Given the description of an element on the screen output the (x, y) to click on. 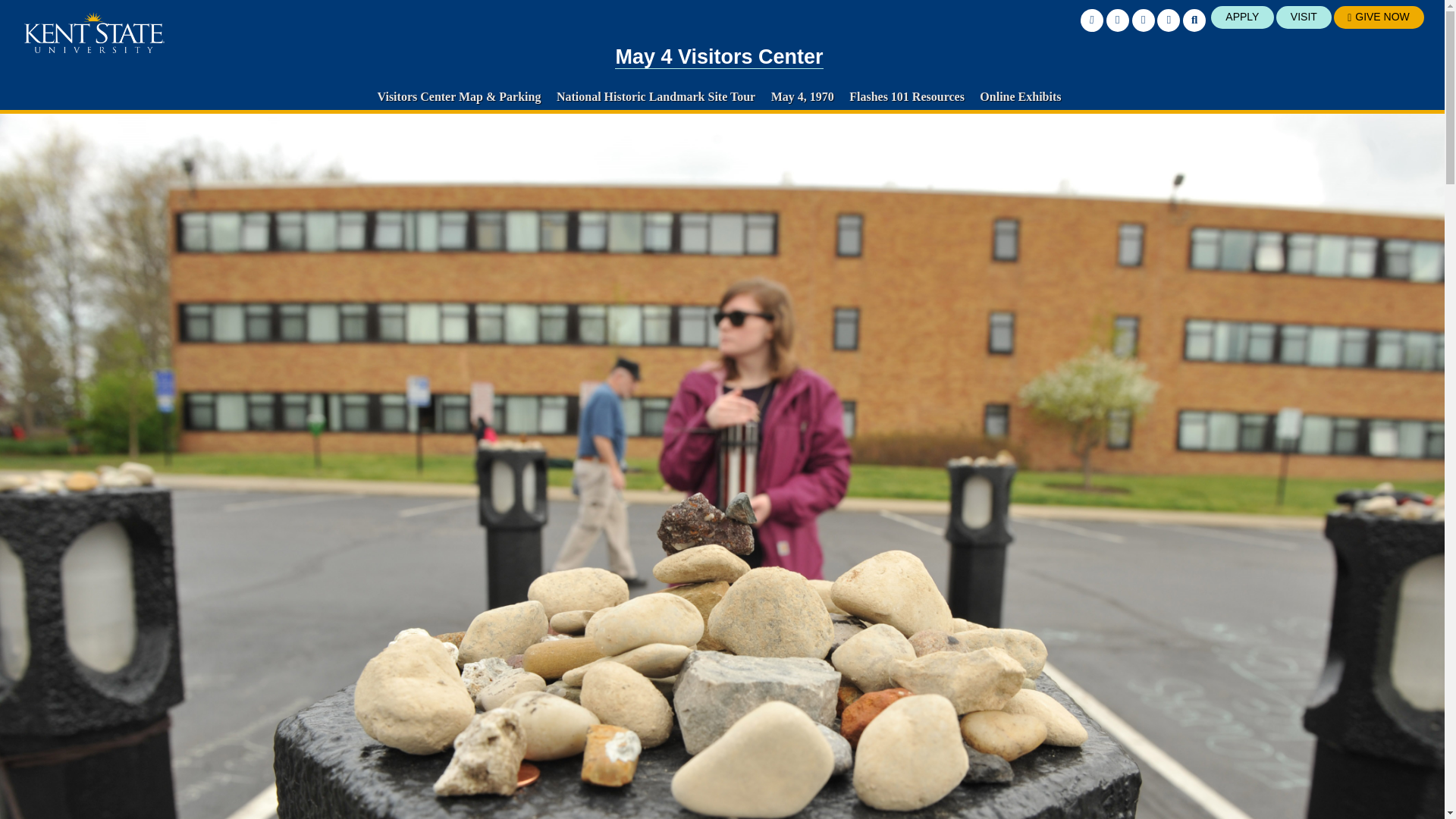
Flashes 101 Resources (907, 96)
APPLY (1241, 16)
National Historic Landmark Site Tour (655, 96)
GIVE NOW (1378, 16)
VISIT (1304, 16)
May 4 Visitors Center (718, 56)
Kent State University logo (94, 32)
Online Exhibits (1020, 96)
May 4, 1970 (802, 96)
